Given the description of an element on the screen output the (x, y) to click on. 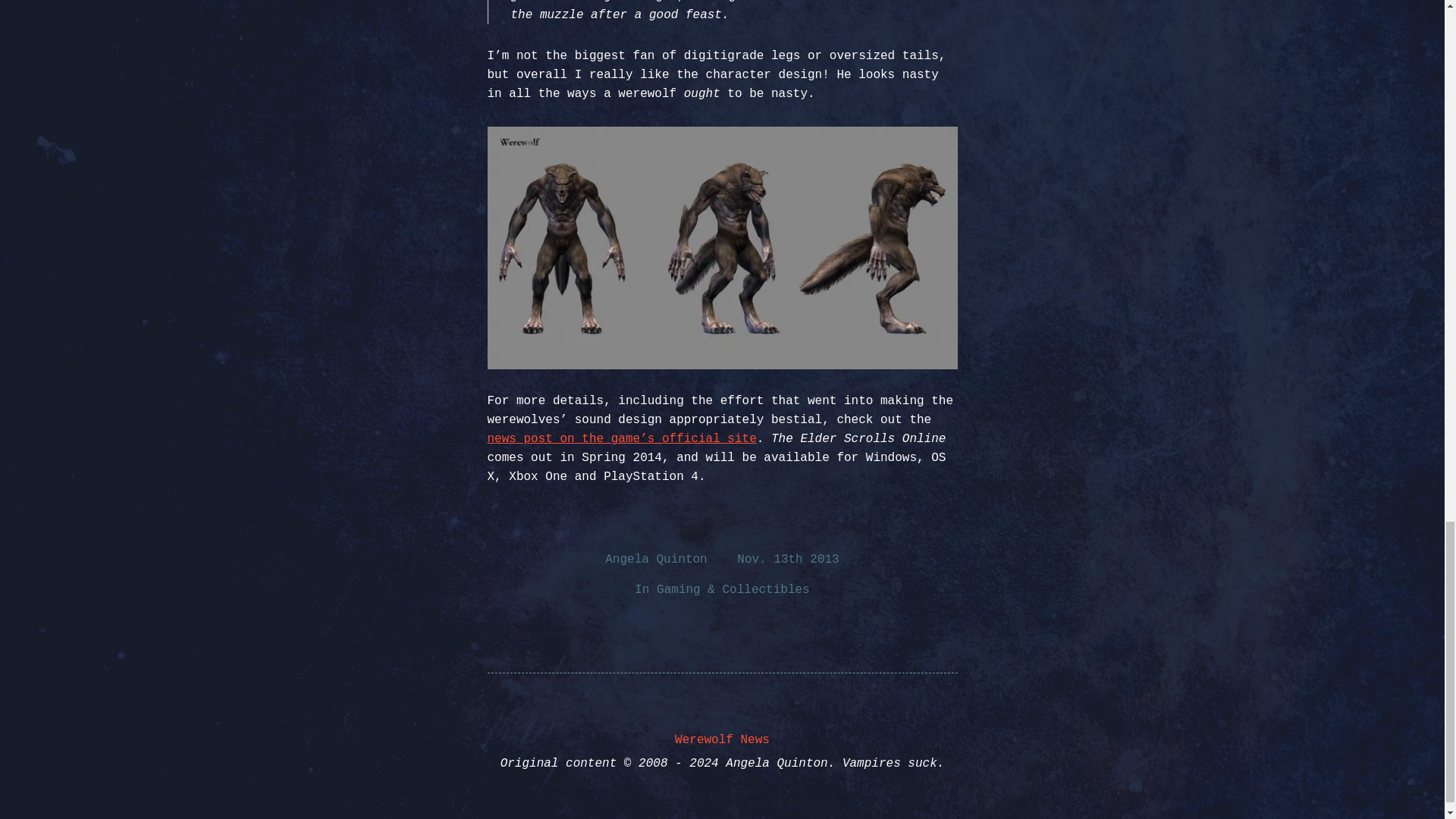
Angela Quinton (655, 559)
Posts by Angela Quinton (655, 559)
Nov. 13th 2013 (787, 559)
Werewolf News (722, 739)
